Given the description of an element on the screen output the (x, y) to click on. 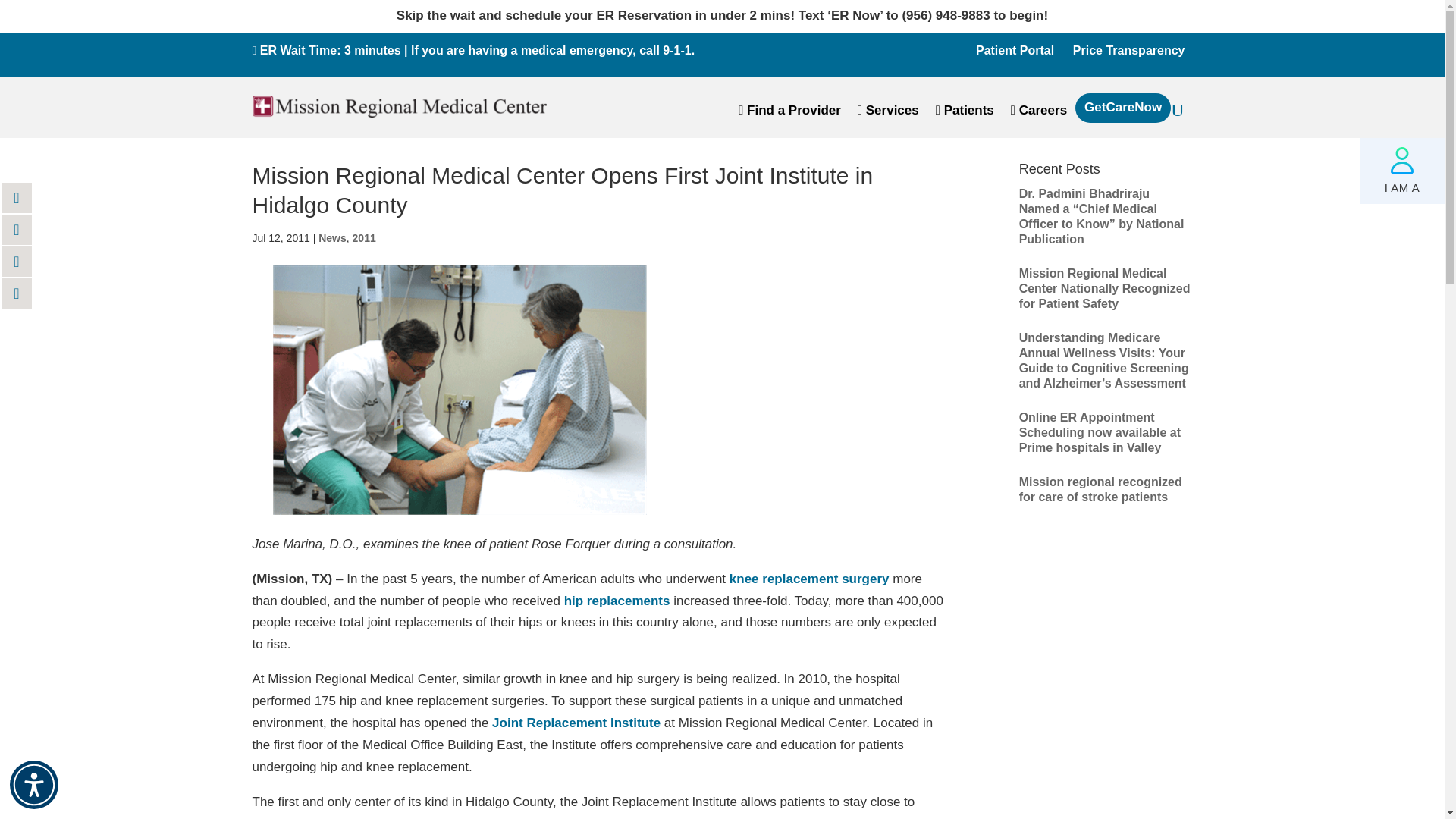
Find a Provider (789, 113)
Services (887, 113)
Patients (965, 113)
Careers (1038, 113)
Joint Replacement Institute (576, 722)
Price Transparency (1128, 50)
2011 (363, 237)
Accessibility Menu (34, 784)
News (332, 237)
GetCareNow (1122, 112)
knee replacement surgery (809, 578)
Patient Portal (1014, 50)
hip replacements (616, 600)
